Given the description of an element on the screen output the (x, y) to click on. 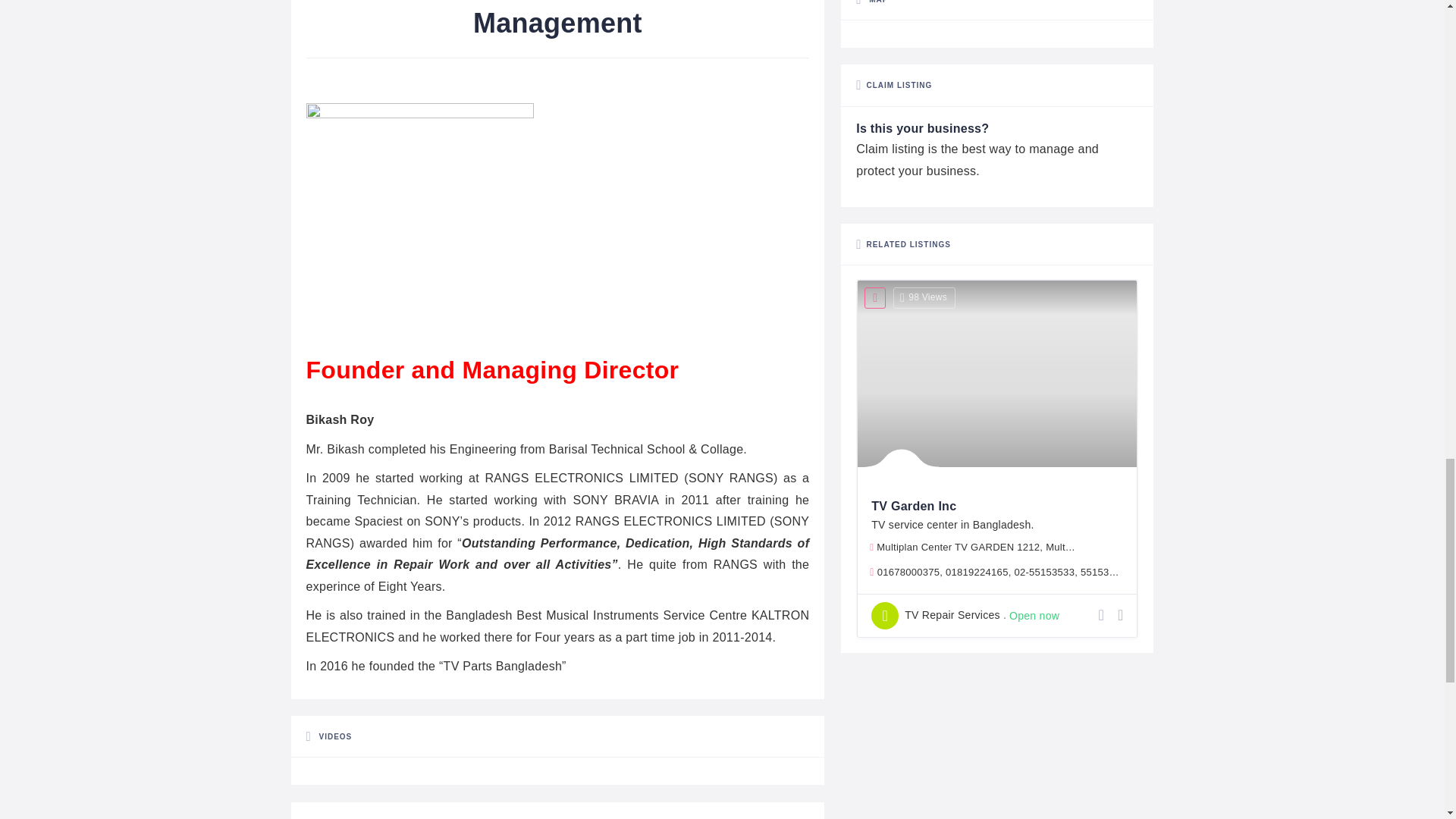
TV Repair Services (935, 615)
